Given the description of an element on the screen output the (x, y) to click on. 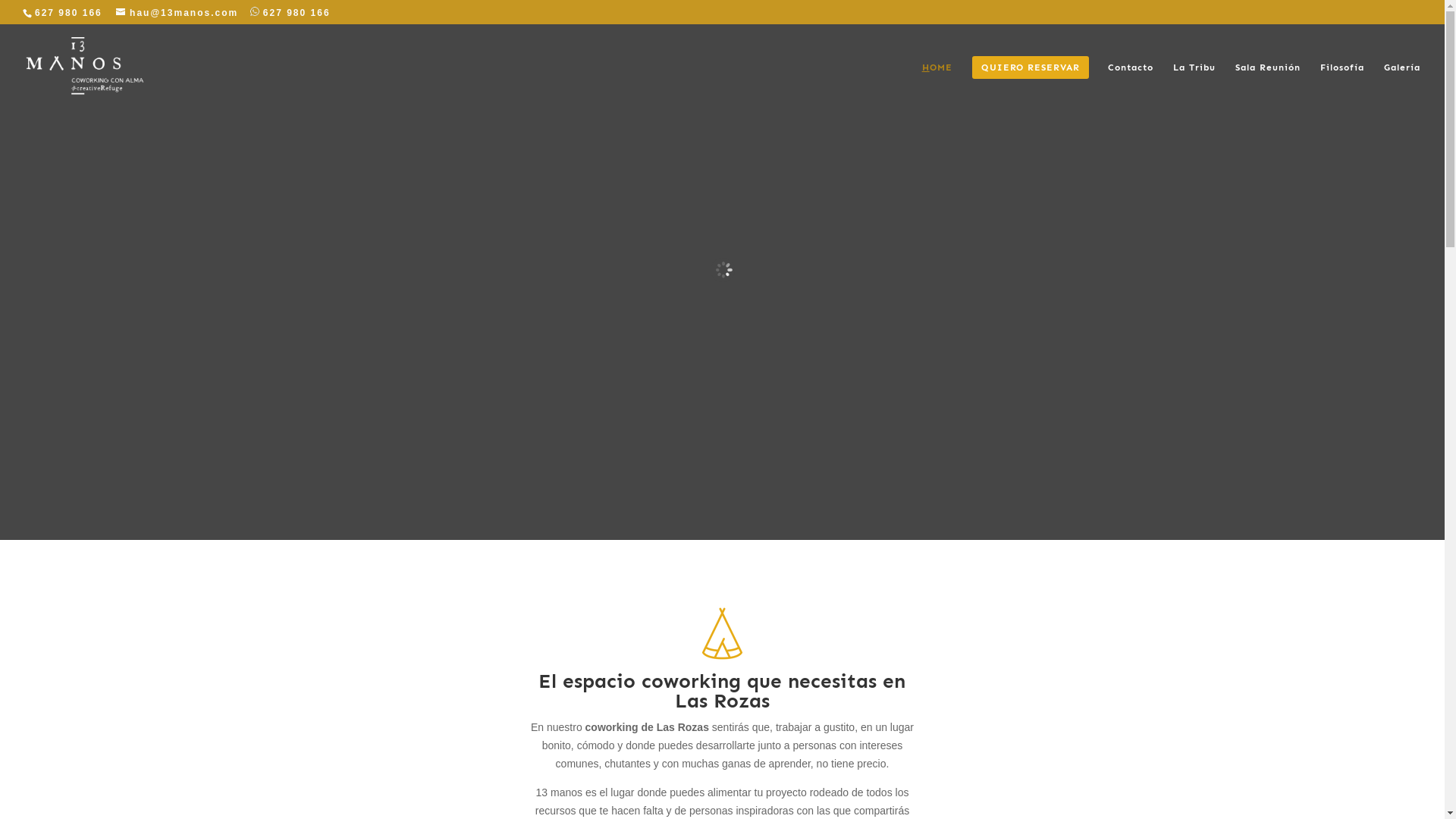
La Tribu Element type: text (1194, 86)
Contacto Element type: text (1130, 86)
627 980 166 Element type: text (67, 12)
hau@13manos.com Element type: text (177, 12)
627 980 166 Element type: text (286, 12)
HOME Element type: text (937, 86)
QUIERO RESERVAR Element type: text (1030, 86)
ENVIAR Element type: text (1054, 391)
